Given the description of an element on the screen output the (x, y) to click on. 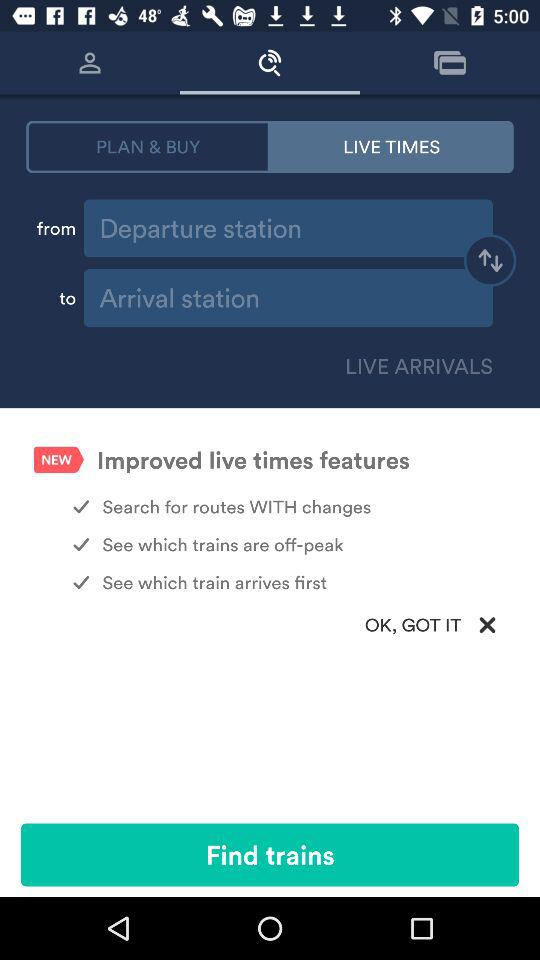
jump until the find trains (270, 854)
